Given the description of an element on the screen output the (x, y) to click on. 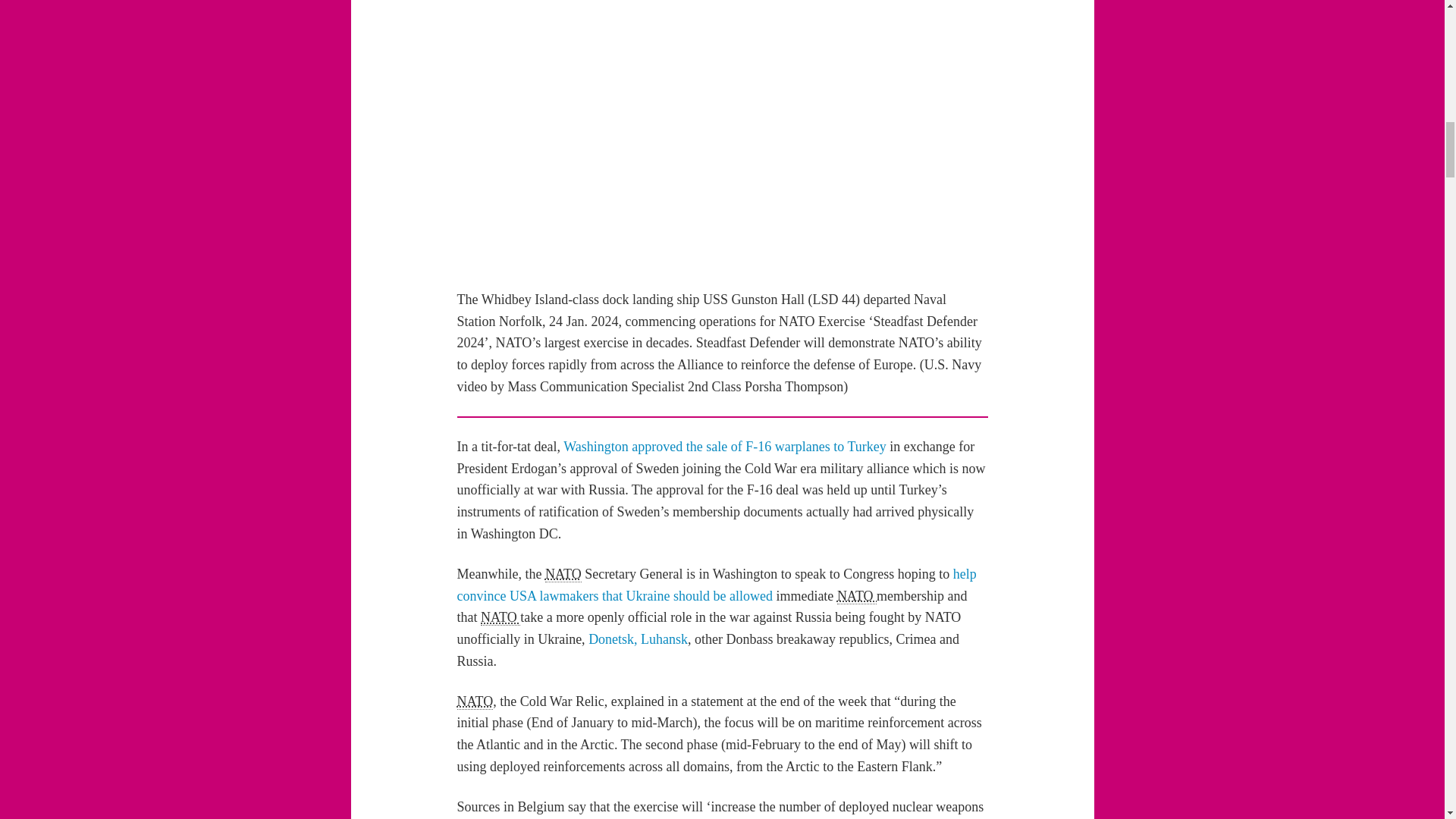
help convince USA lawmakers that Ukraine should be allowed (716, 584)
Washington approved the sale of F-16 warplanes to Turkey (724, 446)
Donetsk, Luhansk (637, 639)
